Given the description of an element on the screen output the (x, y) to click on. 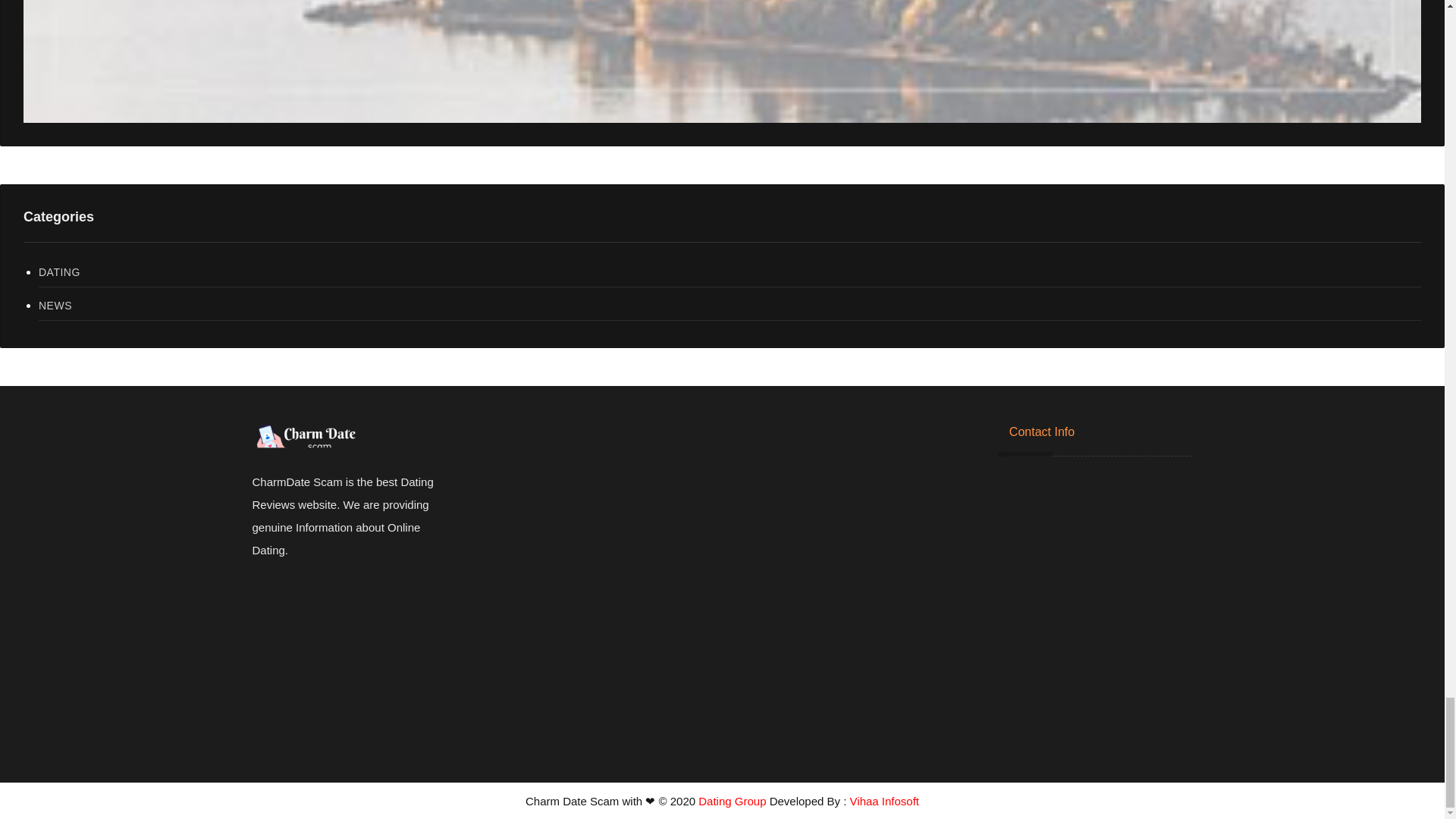
NEWS (730, 306)
DATING (730, 272)
